Given the description of an element on the screen output the (x, y) to click on. 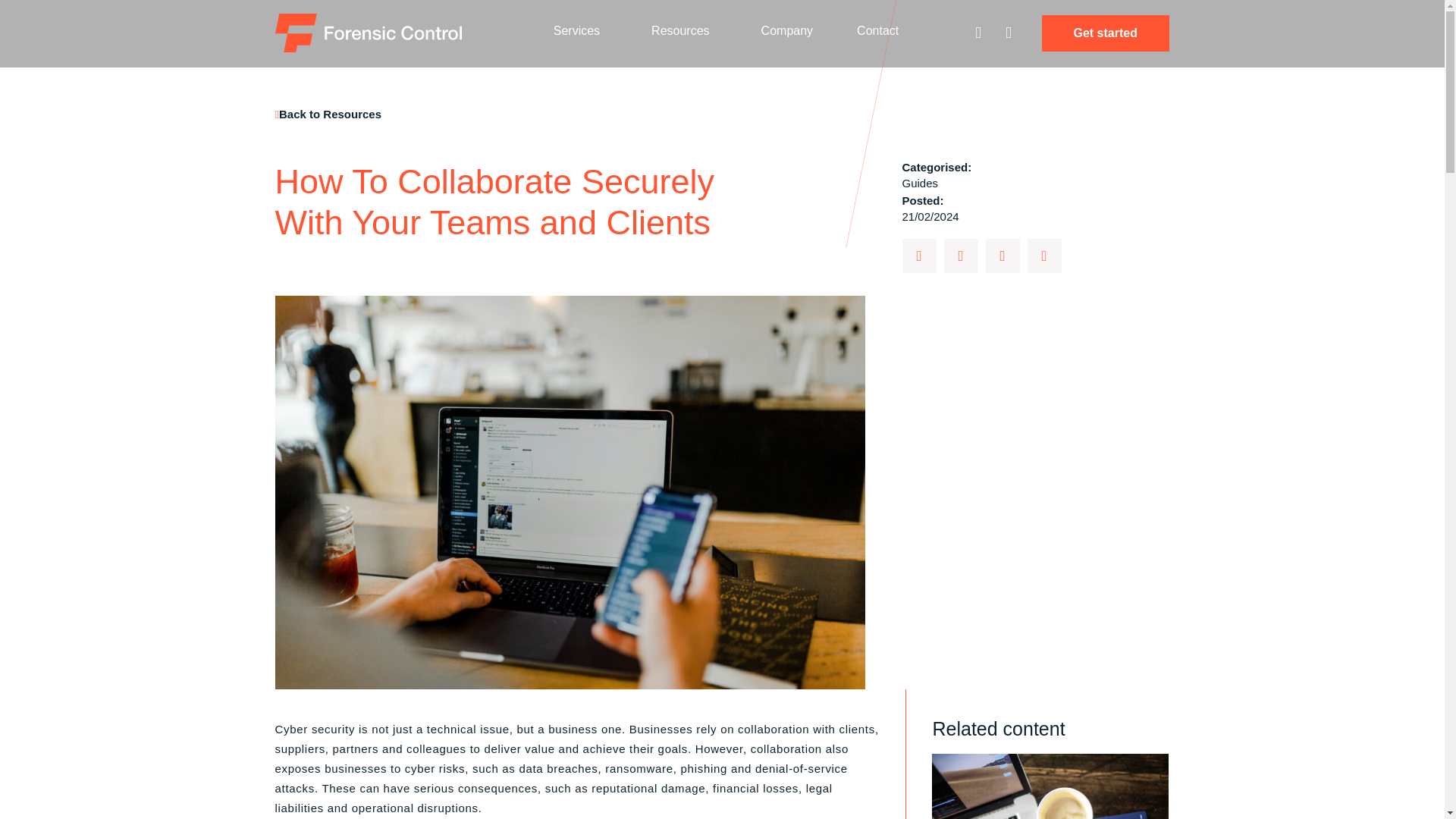
Company (786, 30)
Get started (1105, 33)
Services (579, 30)
Back to Resources (328, 114)
Resources (683, 30)
Contact (877, 30)
